Given the description of an element on the screen output the (x, y) to click on. 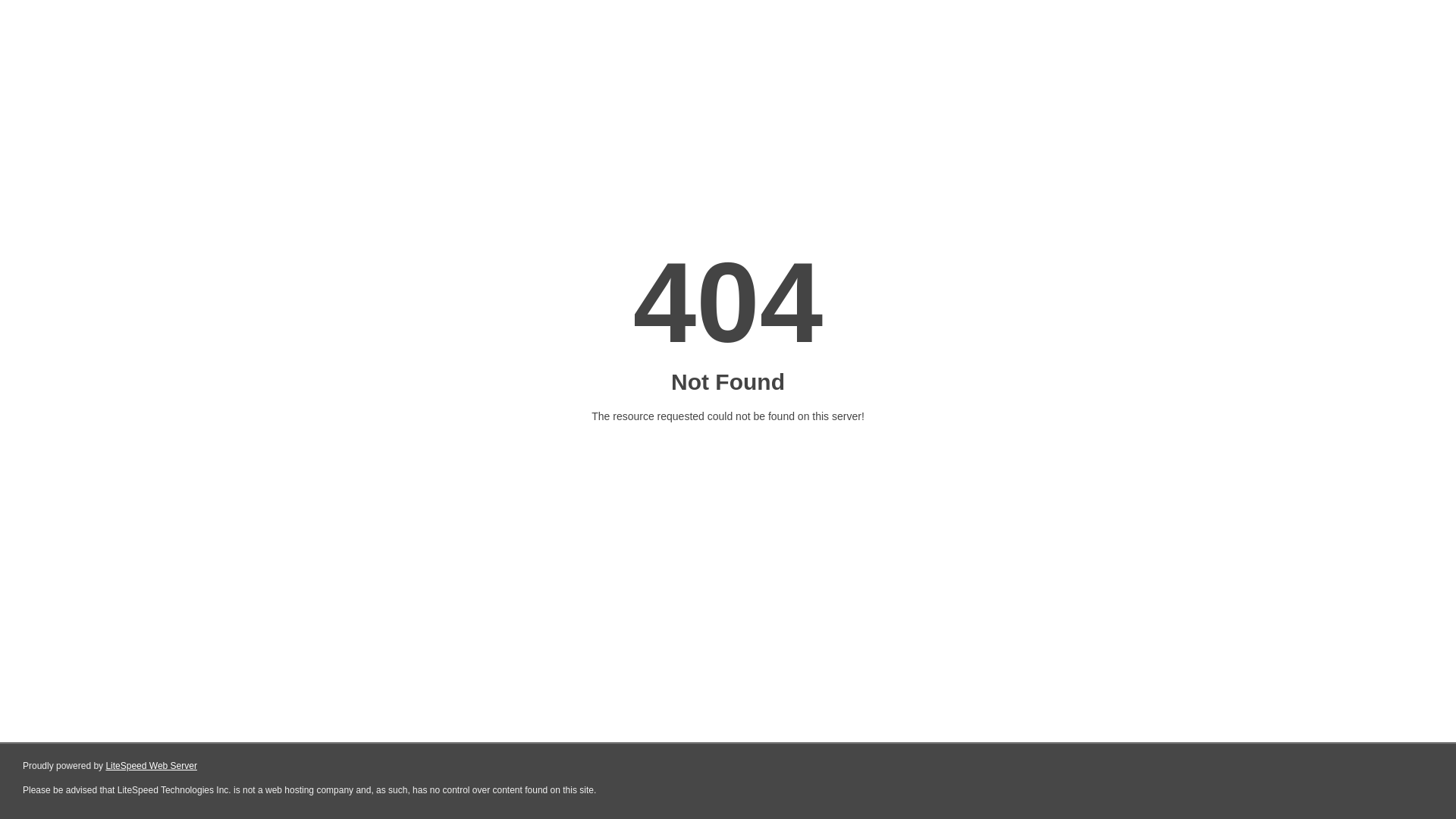
LiteSpeed Web Server Element type: text (151, 765)
